Given the description of an element on the screen output the (x, y) to click on. 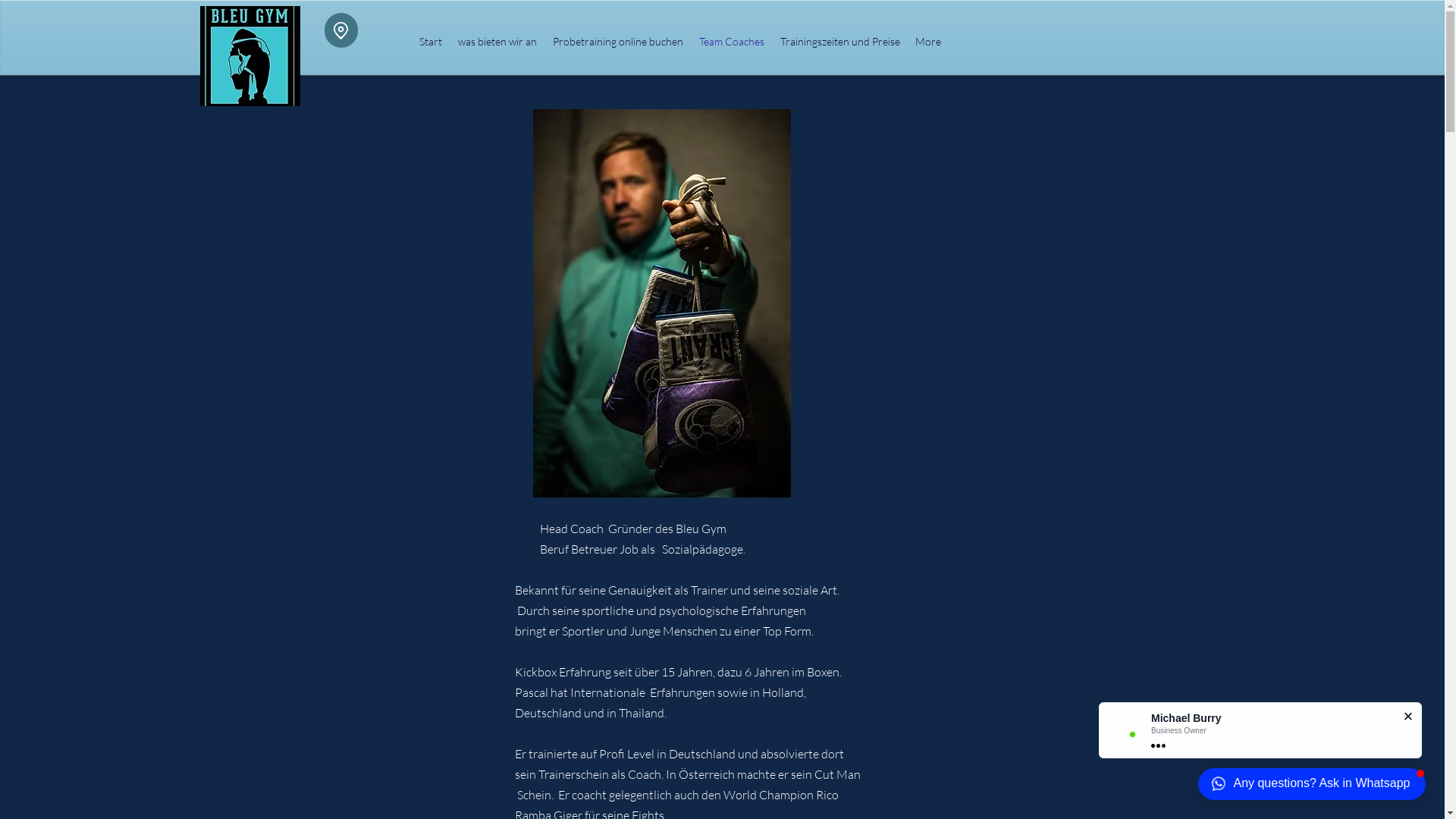
Start Element type: text (430, 41)
Team Coaches Element type: text (731, 41)
was bieten wir an Element type: text (497, 41)
Probetraining online buchen Element type: text (617, 41)
Trainingszeiten und Preise Element type: text (838, 41)
